Given the description of an element on the screen output the (x, y) to click on. 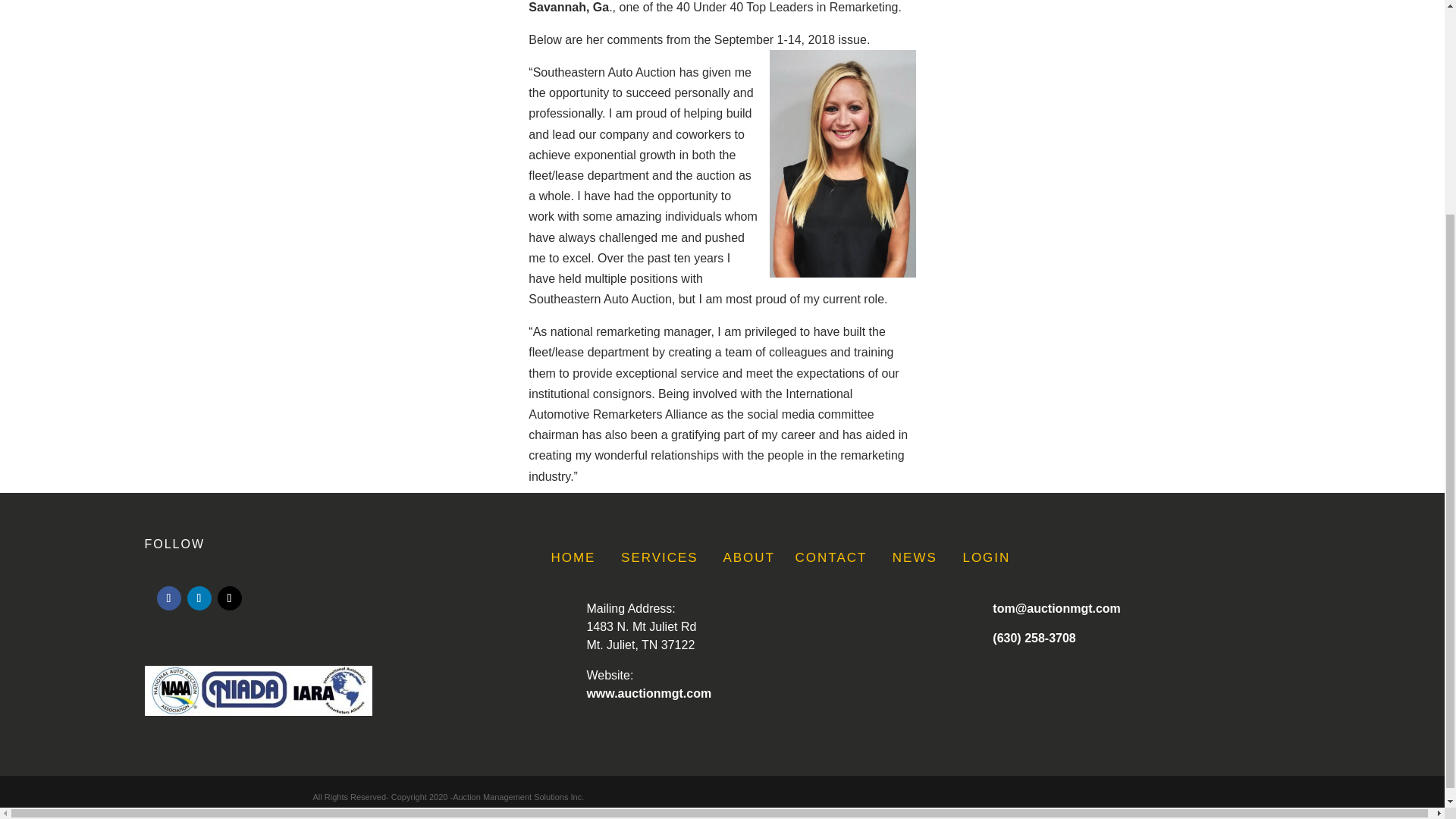
ABOUT (748, 557)
CONTACT (830, 557)
LOGIN (986, 557)
Follow on Facebook (167, 598)
Follow on Twitter (228, 598)
Follow on LinkedIn (198, 598)
HOME (572, 557)
SERVICES (659, 557)
www.auctionmgt.com (648, 693)
NEWS (914, 557)
